Given the description of an element on the screen output the (x, y) to click on. 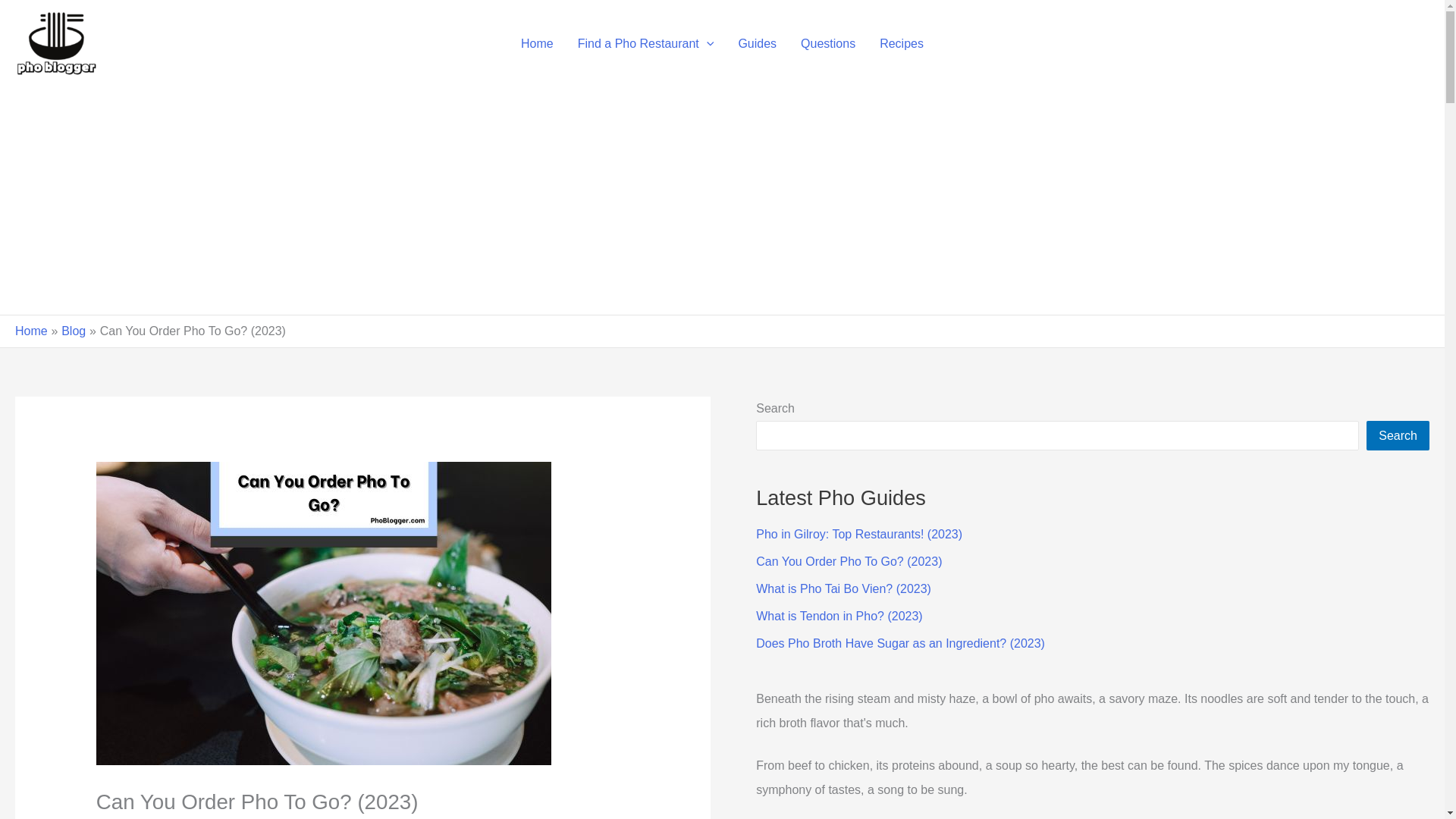
Home (31, 330)
Home (537, 43)
Recipes (901, 43)
Blog (73, 330)
Find a Pho Restaurant (646, 43)
Guides (757, 43)
Questions (828, 43)
